Given the description of an element on the screen output the (x, y) to click on. 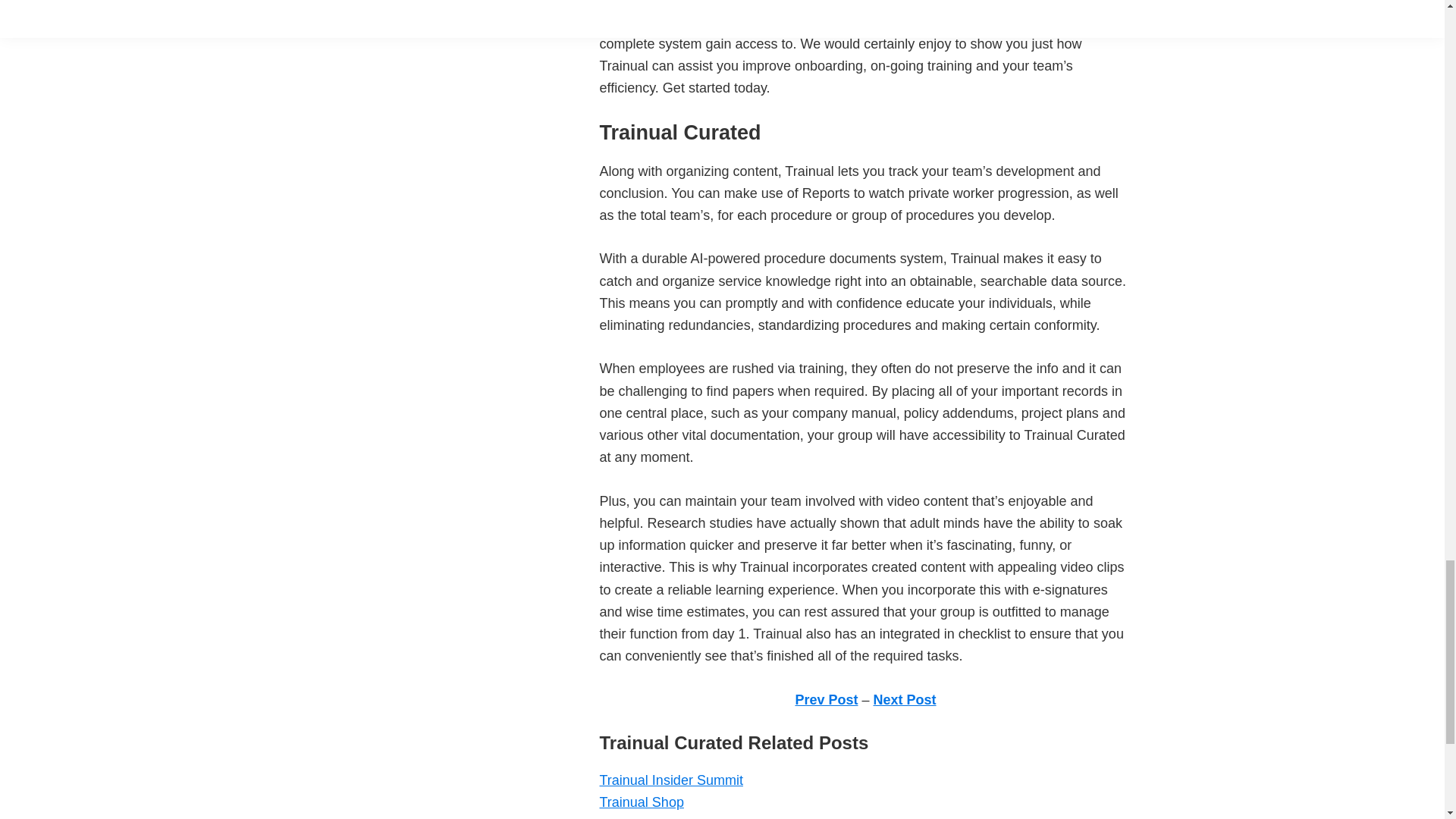
Next Post (904, 699)
Trainual Shop (640, 801)
Trainual Insider Summit (670, 780)
Prev Post (825, 699)
Trainual Insider Summit (670, 780)
Trainual Shop (640, 801)
Trainual Certification (660, 817)
Trainual Certification (660, 817)
